Given the description of an element on the screen output the (x, y) to click on. 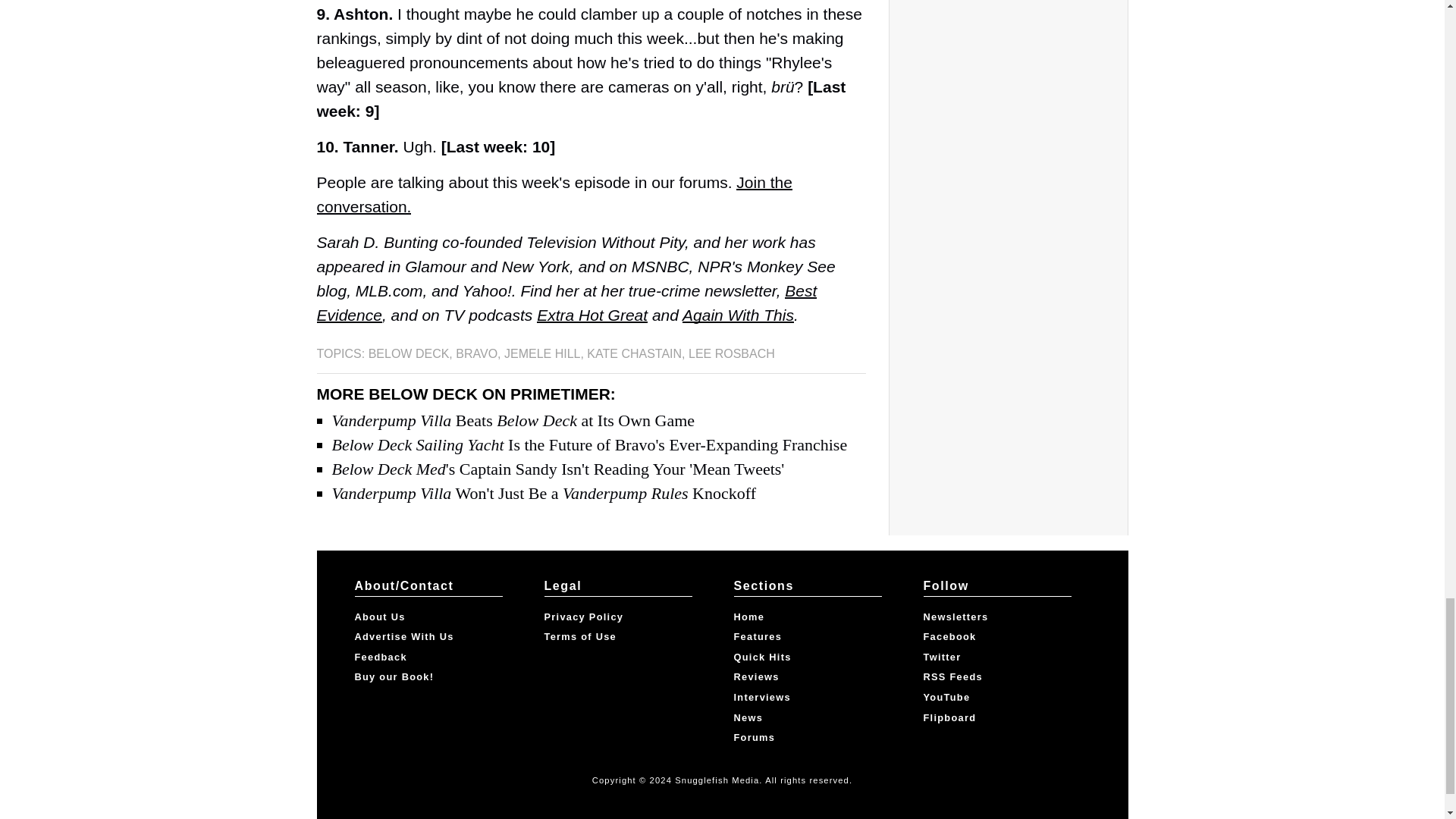
LEE ROSBACH (731, 353)
Best Evidence (566, 302)
KATE CHASTAIN (633, 353)
BELOW DECK (408, 353)
Join the conversation. (554, 194)
JEMELE HILL (541, 353)
Again With This (737, 314)
BRAVO (476, 353)
Extra Hot Great (592, 314)
